Given the description of an element on the screen output the (x, y) to click on. 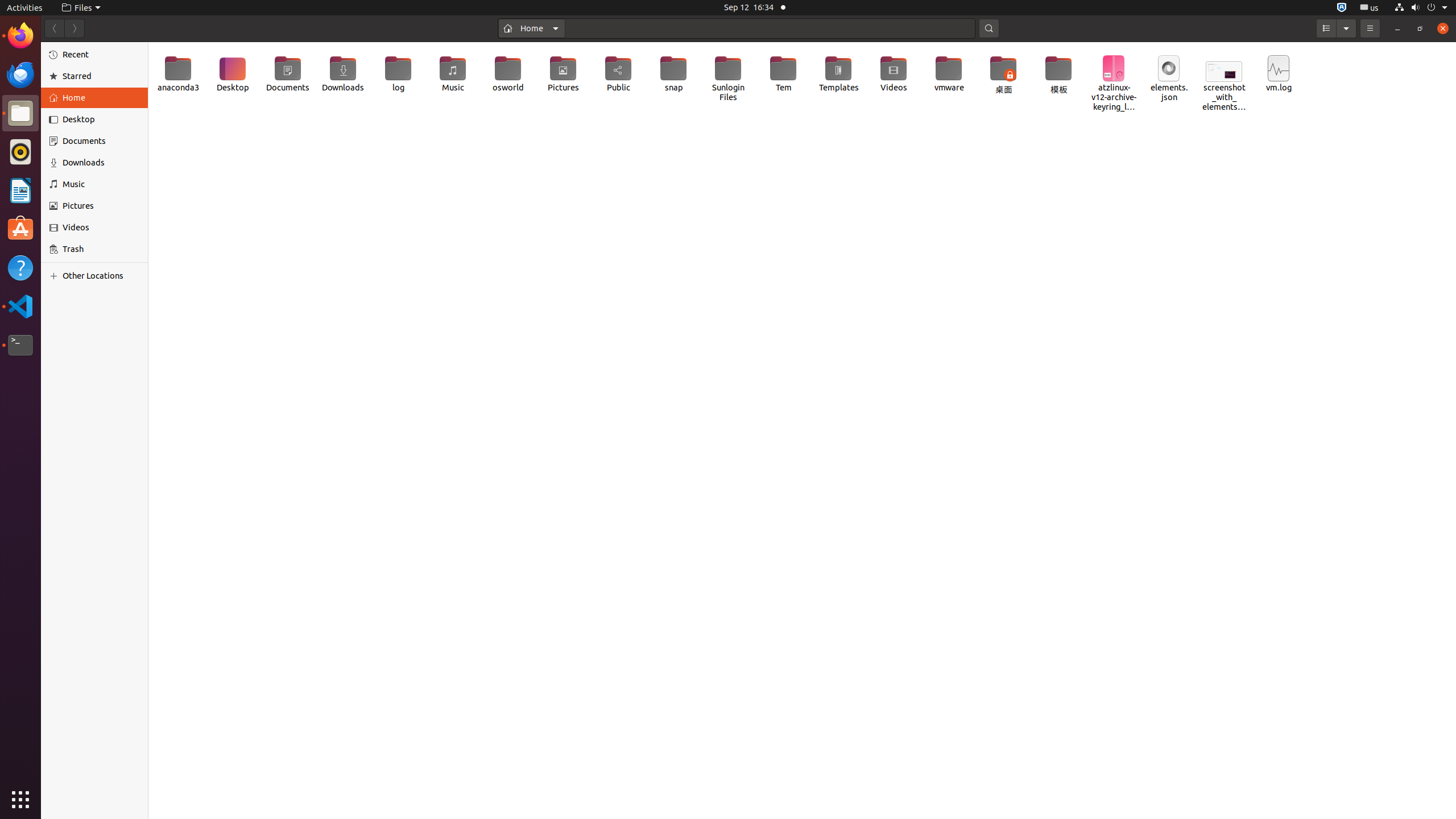
模板 Element type: canvas (1058, 75)
桌面 Element type: canvas (1003, 75)
Desktop Element type: canvas (232, 73)
Starred Element type: label (100, 75)
